Given the description of an element on the screen output the (x, y) to click on. 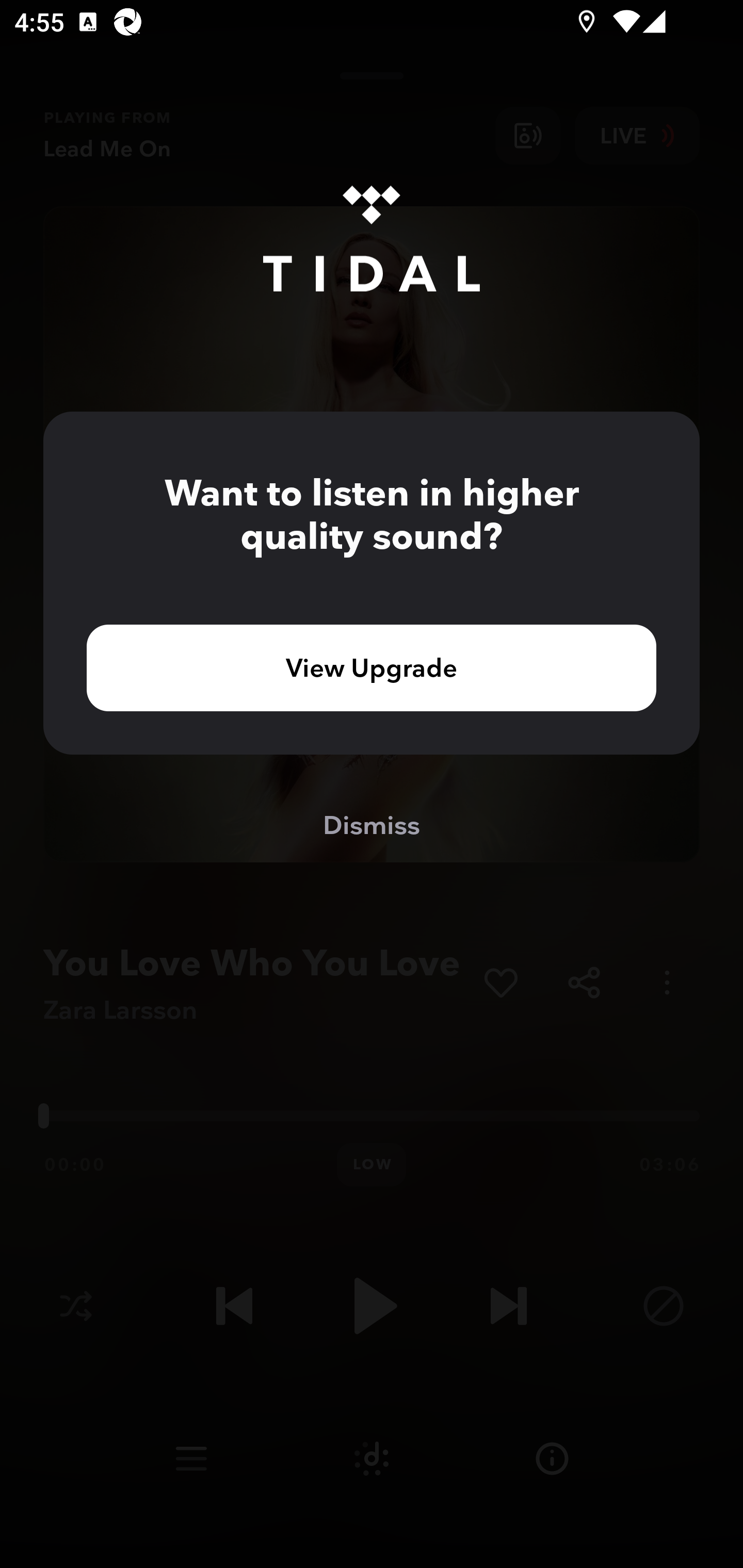
View Upgrade (371, 667)
Dismiss (371, 824)
